Given the description of an element on the screen output the (x, y) to click on. 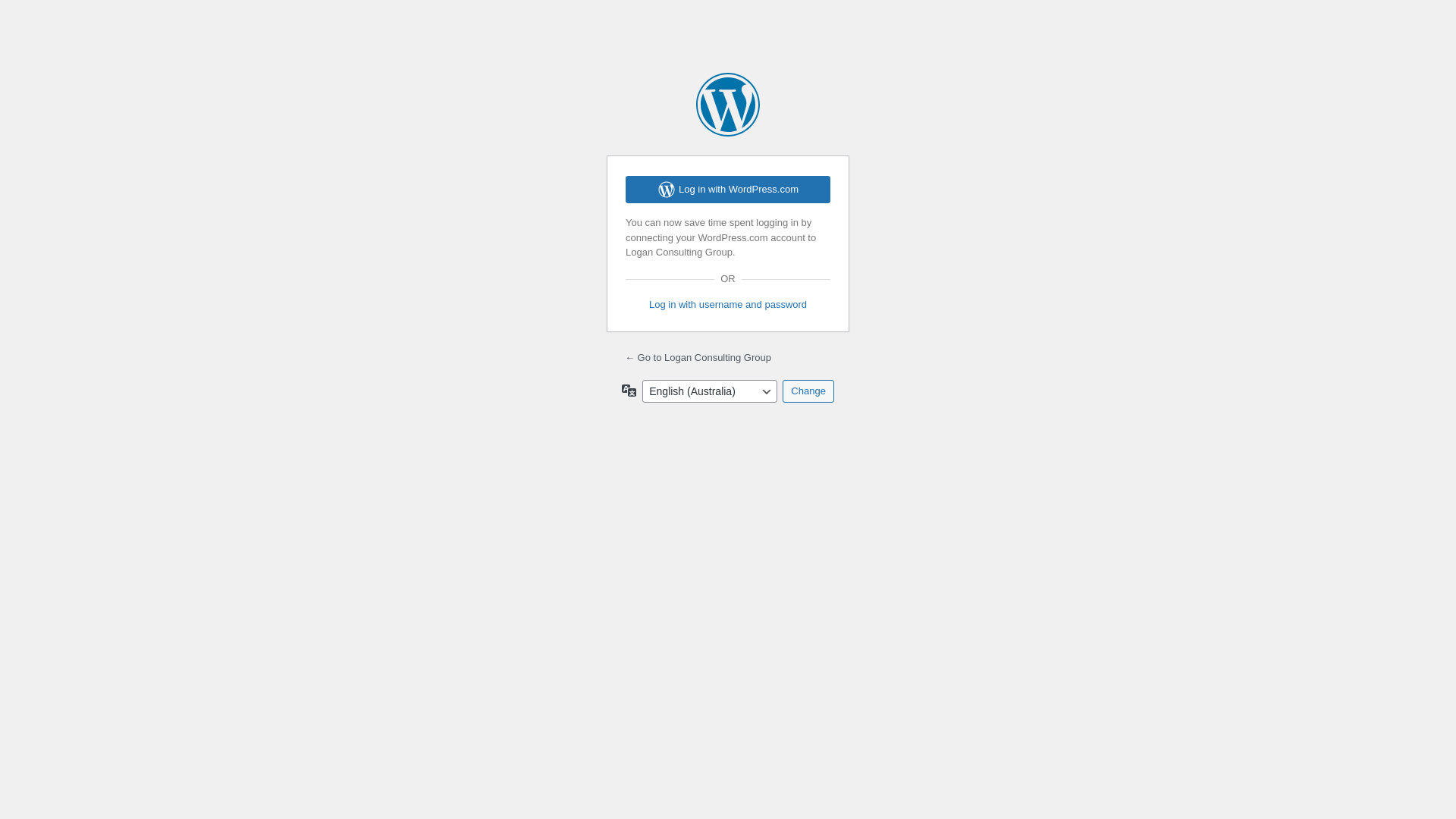
Log in with username and password Element type: text (727, 304)
Log in with WordPress.com Element type: text (727, 189)
Powered by WordPress Element type: text (727, 104)
Change Element type: text (808, 390)
